Given the description of an element on the screen output the (x, y) to click on. 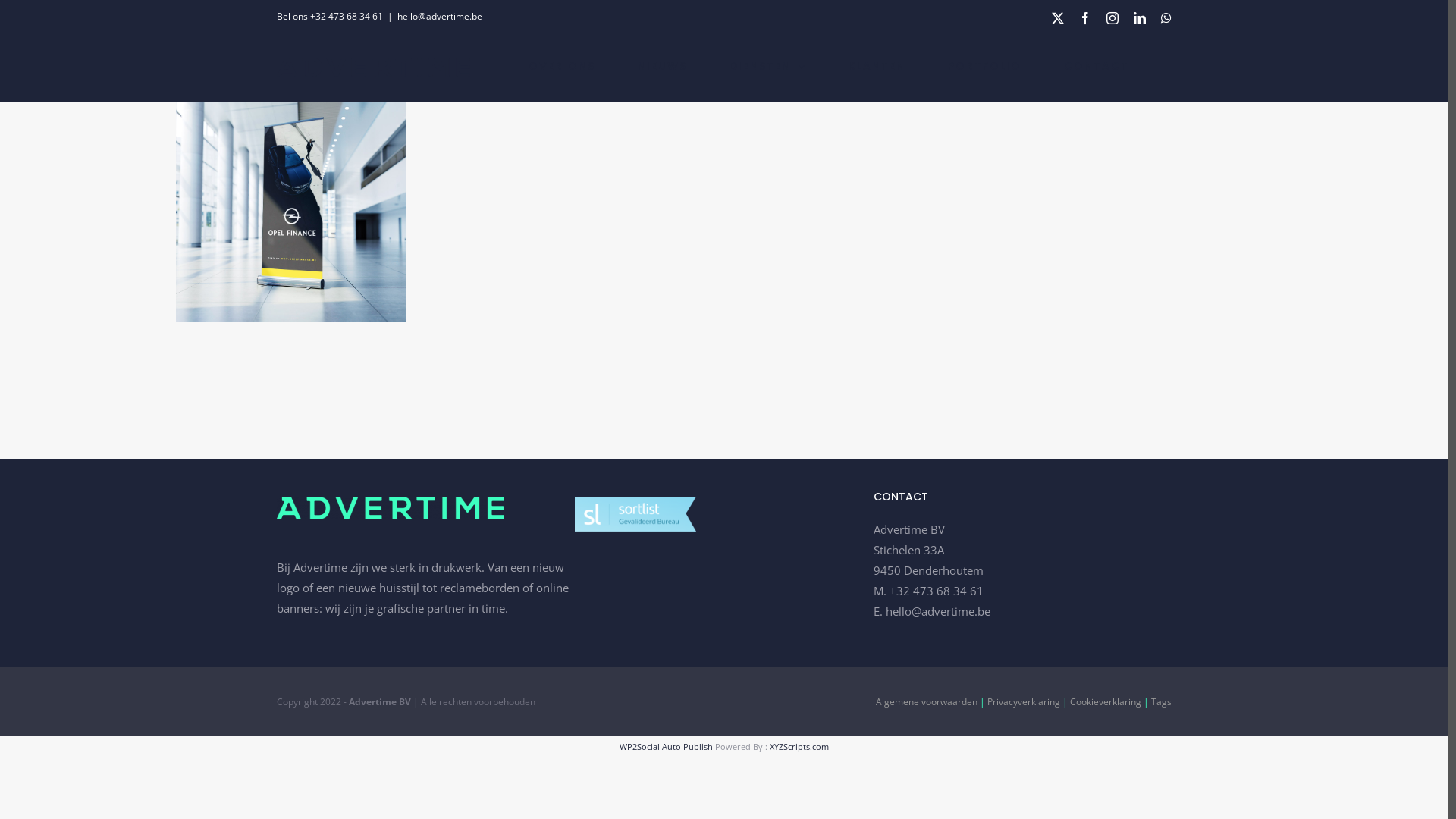
LinkedIn Element type: text (1139, 18)
WP2Social Auto Publish Element type: text (665, 746)
hello@advertime.be Element type: text (439, 15)
DIENSTEN Element type: text (767, 65)
Privacyverklaring Element type: text (1023, 701)
KLANTEN Element type: text (876, 65)
NIEUWS Element type: text (662, 65)
Tags Element type: text (1161, 701)
WhatsApp Element type: text (1166, 18)
Twitter Element type: text (1057, 18)
Cookieverklaring Element type: text (1105, 701)
CONTACT Element type: text (1096, 65)
OVER ONS Element type: text (561, 65)
PORTFOLIO Element type: text (984, 65)
XYZScripts.com Element type: text (798, 746)
Algemene voorwaarden Element type: text (926, 701)
hello@advertime.be Element type: text (937, 610)
Instagram Element type: text (1112, 18)
Facebook Element type: text (1085, 18)
